Given the description of an element on the screen output the (x, y) to click on. 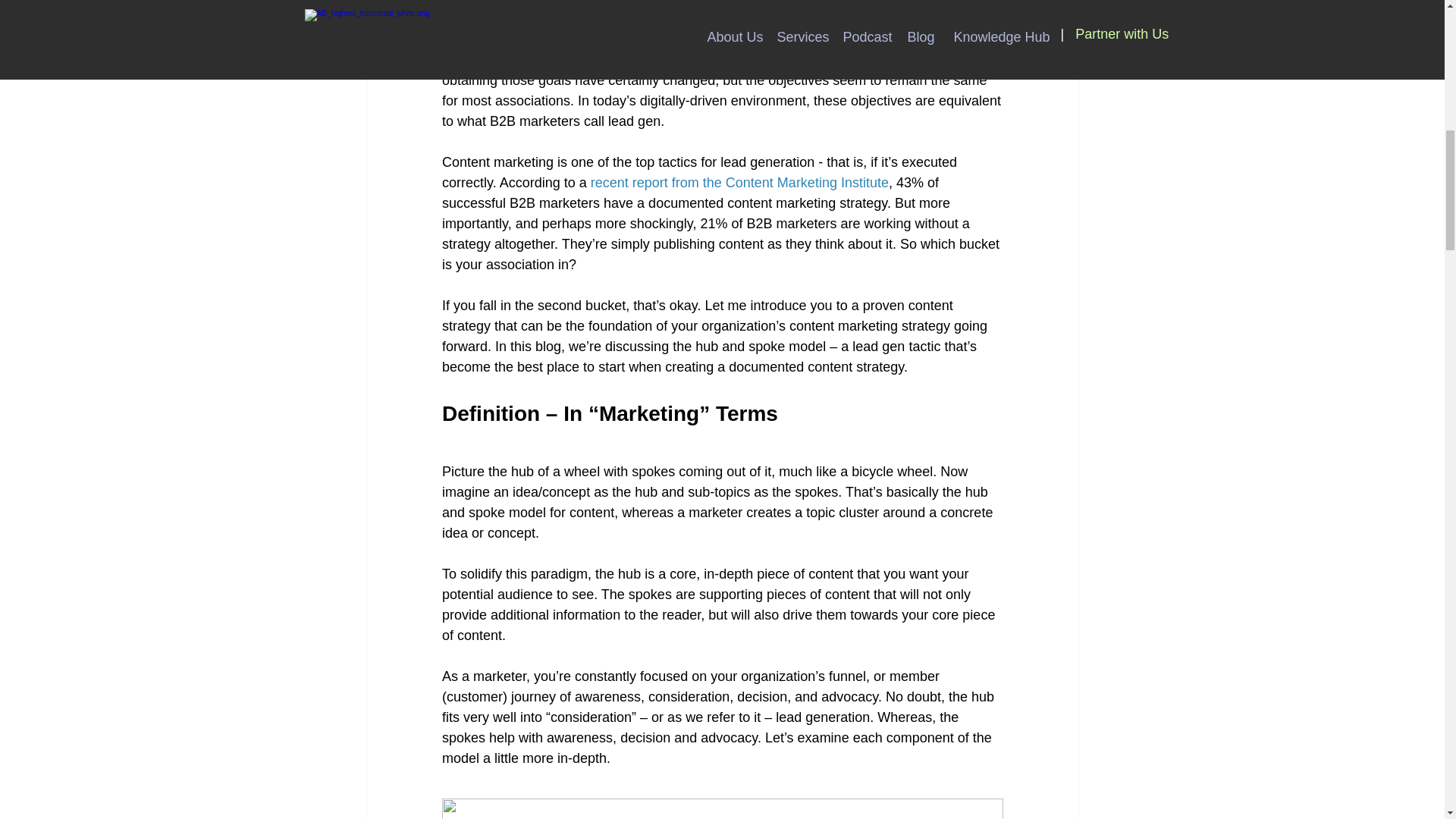
recent report from the Content Marketing Institute (738, 182)
